Given the description of an element on the screen output the (x, y) to click on. 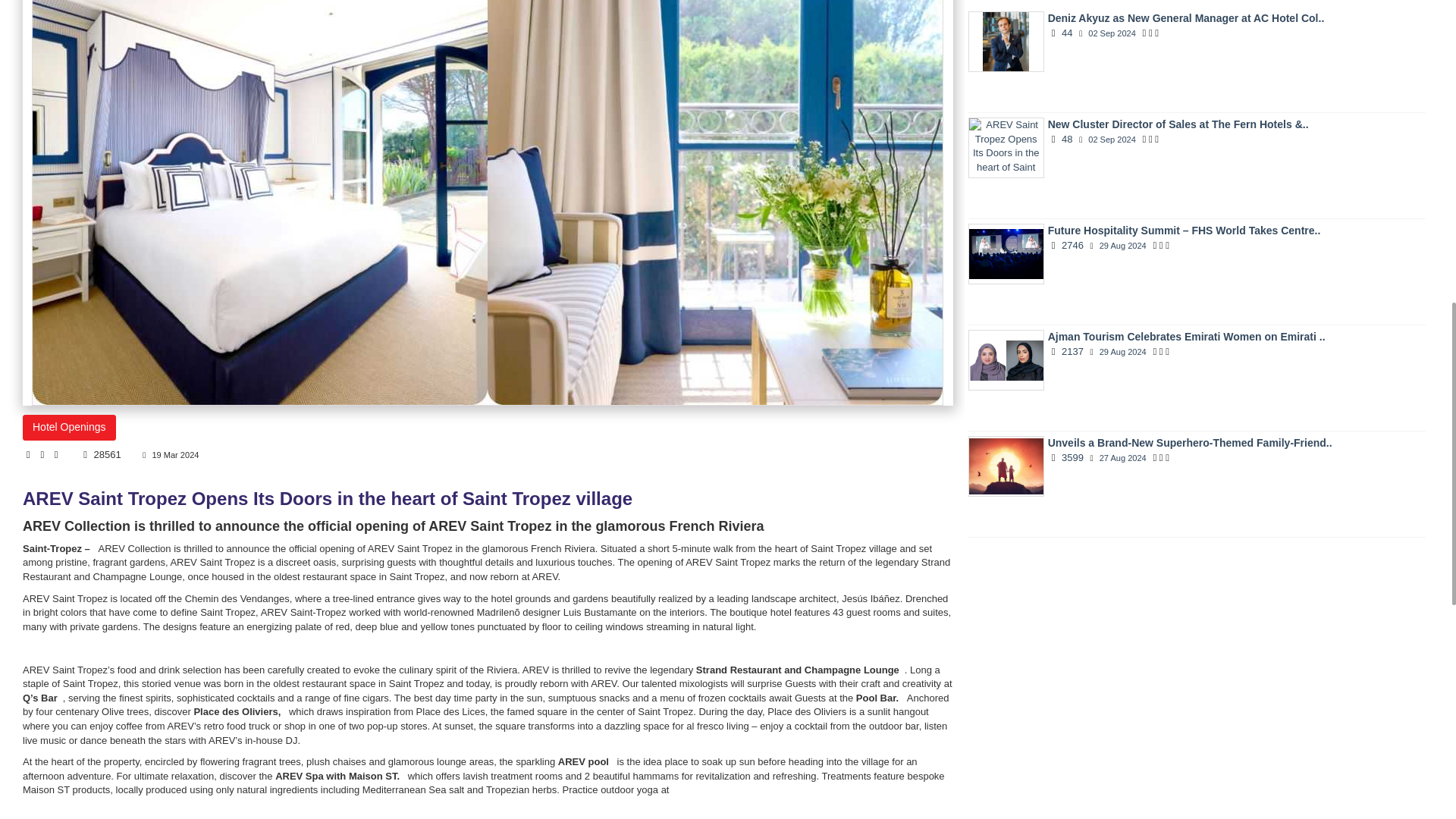
Share (57, 454)
Share (42, 454)
Share (29, 454)
